Given the description of an element on the screen output the (x, y) to click on. 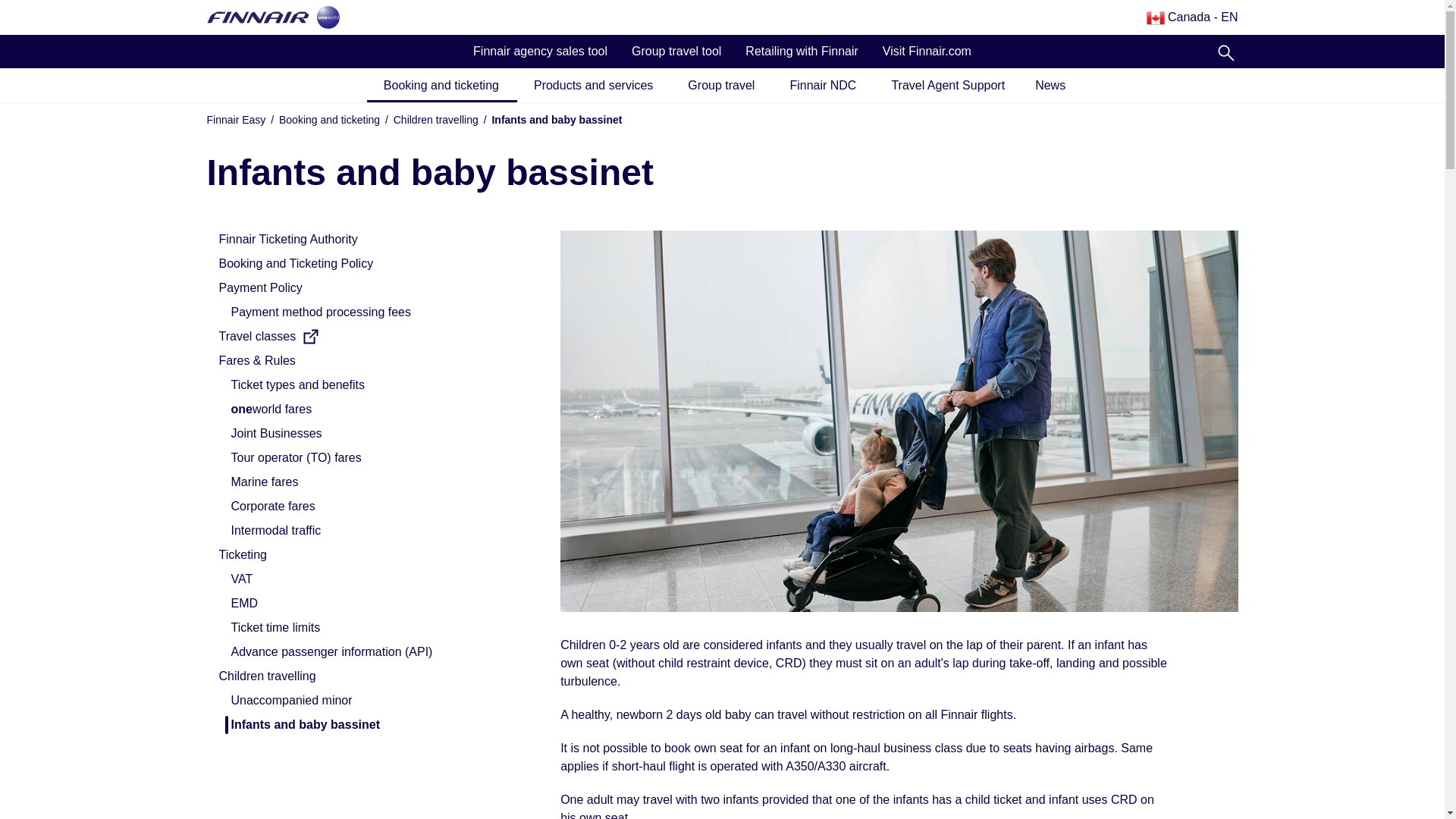
Retailing with Finnair (802, 51)
Canada - EN (1193, 17)
Finnair agency sales tool (540, 51)
Group travel tool (675, 51)
Finnair Easy for travel agents (257, 17)
Visit Finnair.com (926, 51)
Booking and ticketing (441, 85)
Products and services (594, 85)
